Given the description of an element on the screen output the (x, y) to click on. 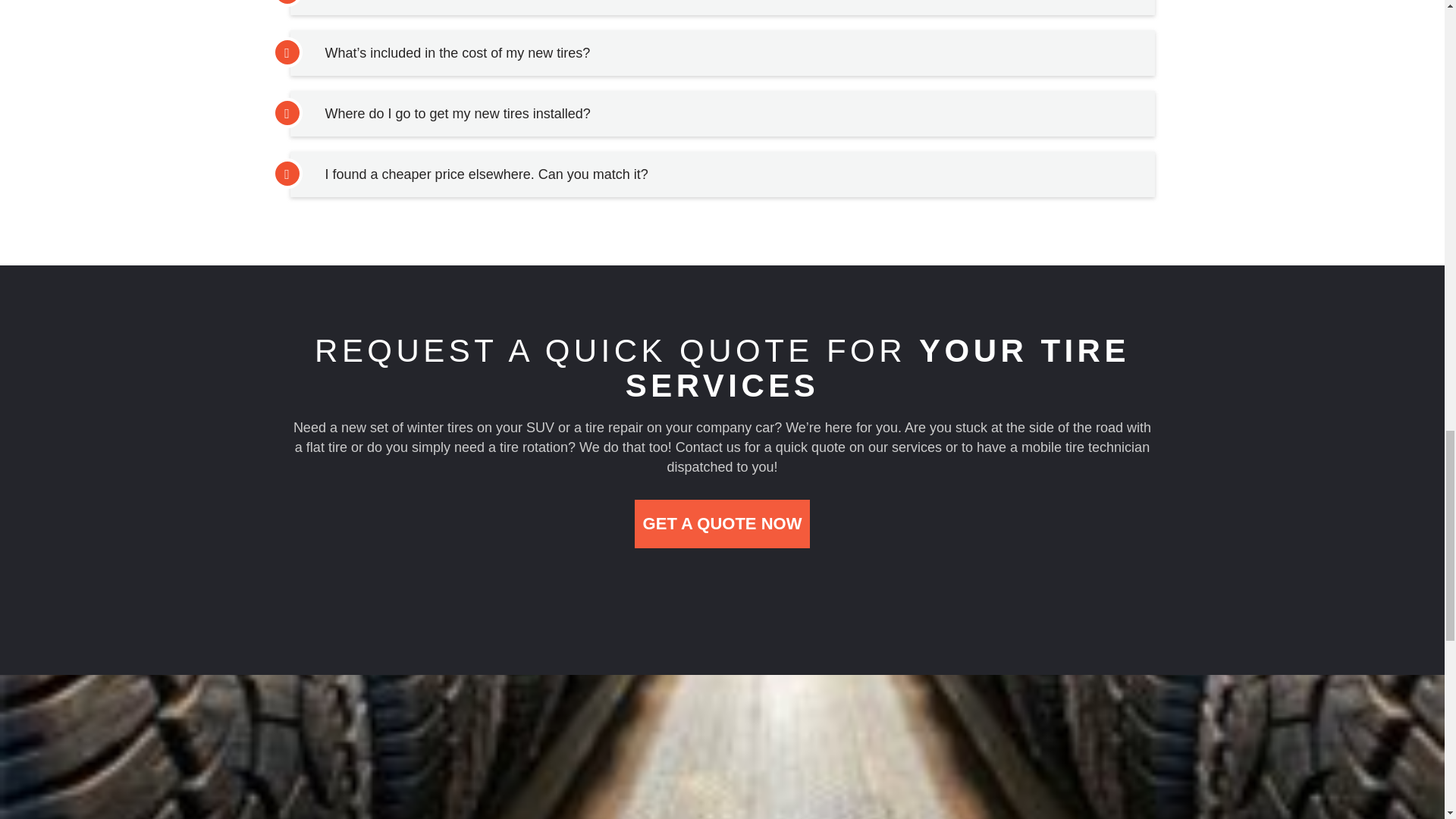
I found a cheaper price elsewhere. Can you match it? (485, 174)
GET A QUOTE NOW (722, 523)
Where do I go to get my new tires installed? (457, 113)
